Given the description of an element on the screen output the (x, y) to click on. 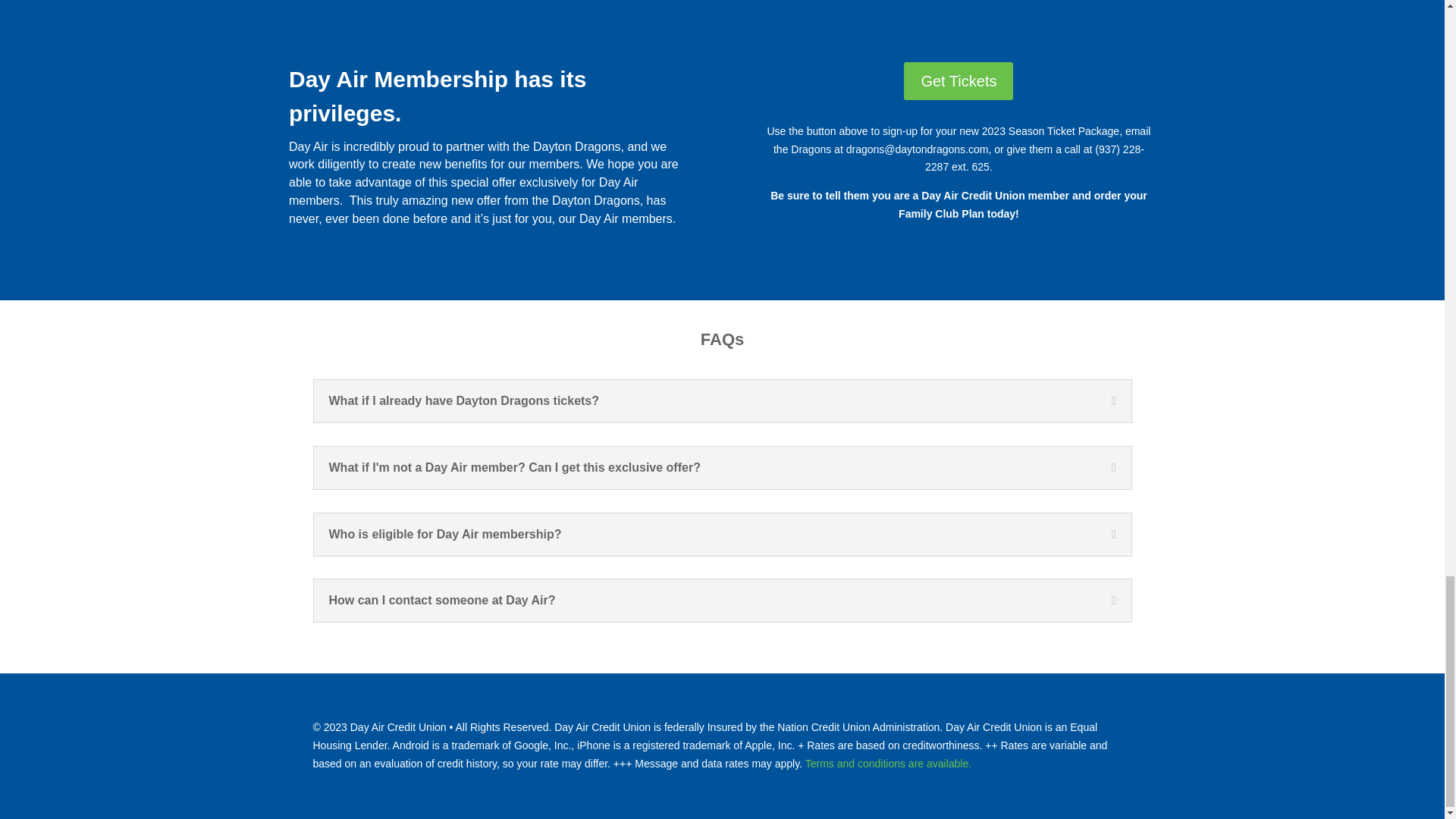
Get Tickets (958, 80)
Terms and conditions are available. (888, 763)
